Given the description of an element on the screen output the (x, y) to click on. 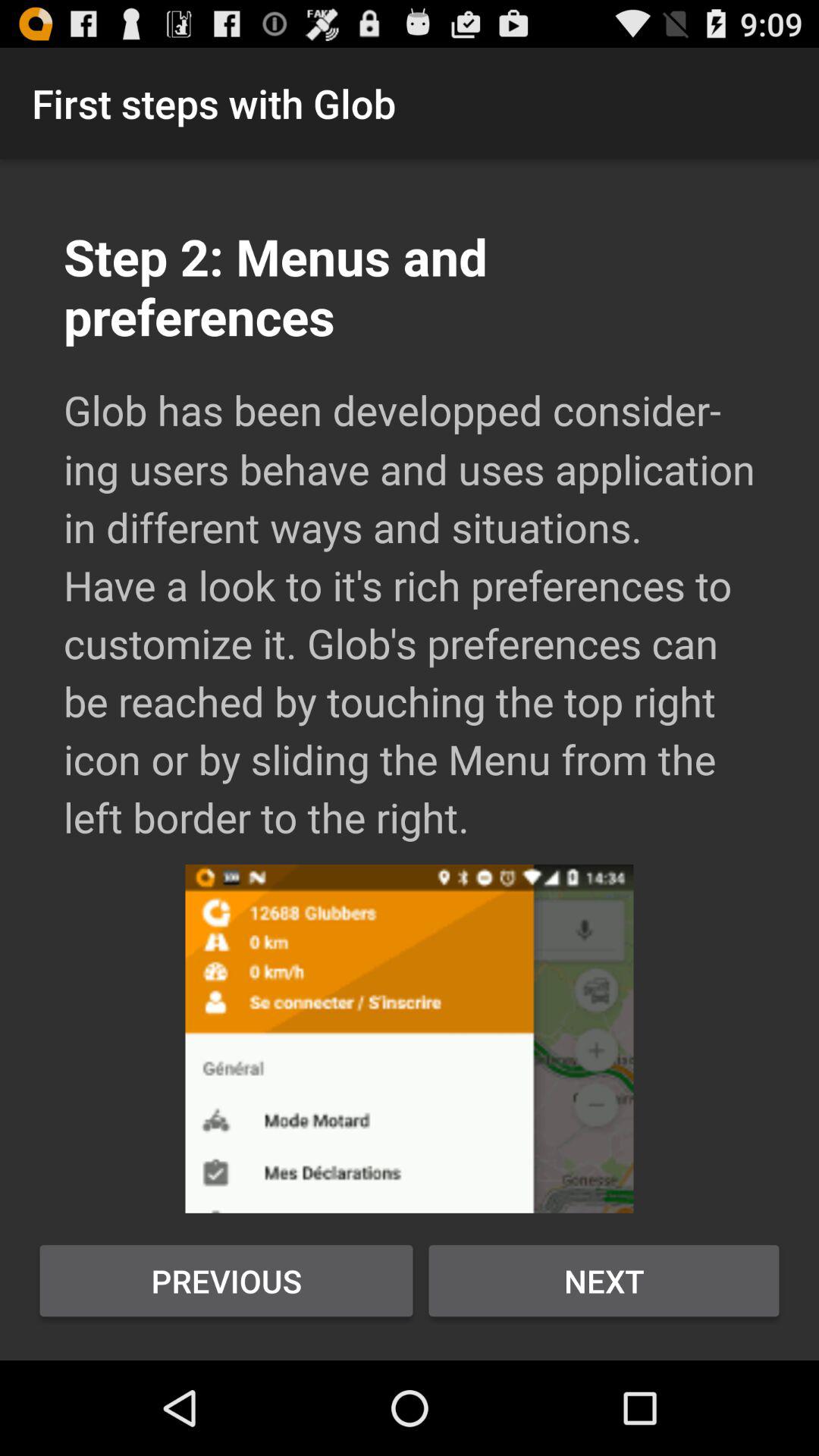
jump until next button (603, 1280)
